Given the description of an element on the screen output the (x, y) to click on. 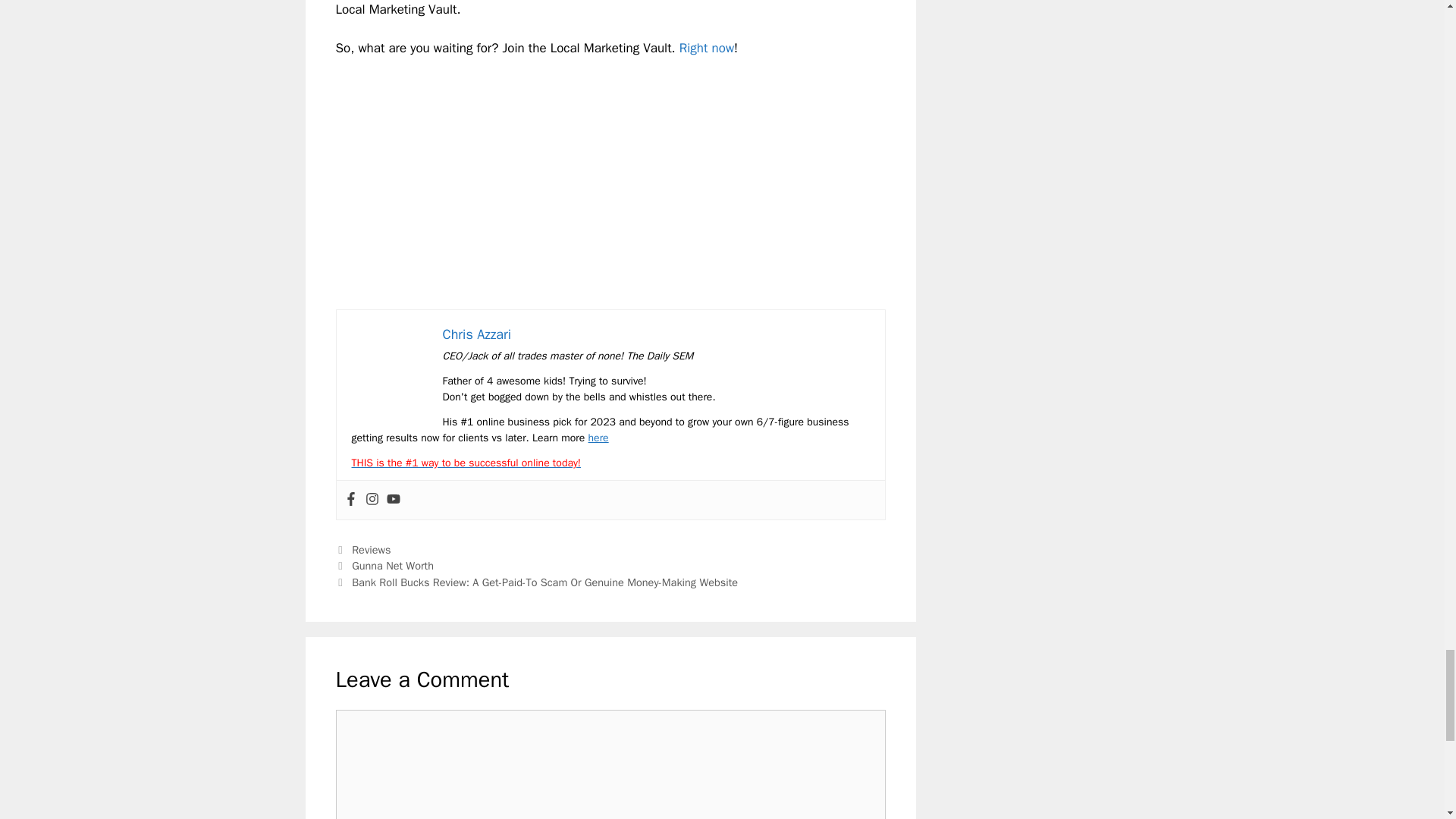
Reviews (371, 549)
Chris Azzari (477, 334)
Right now (706, 48)
Gunna Net Worth (392, 565)
here (598, 437)
